Given the description of an element on the screen output the (x, y) to click on. 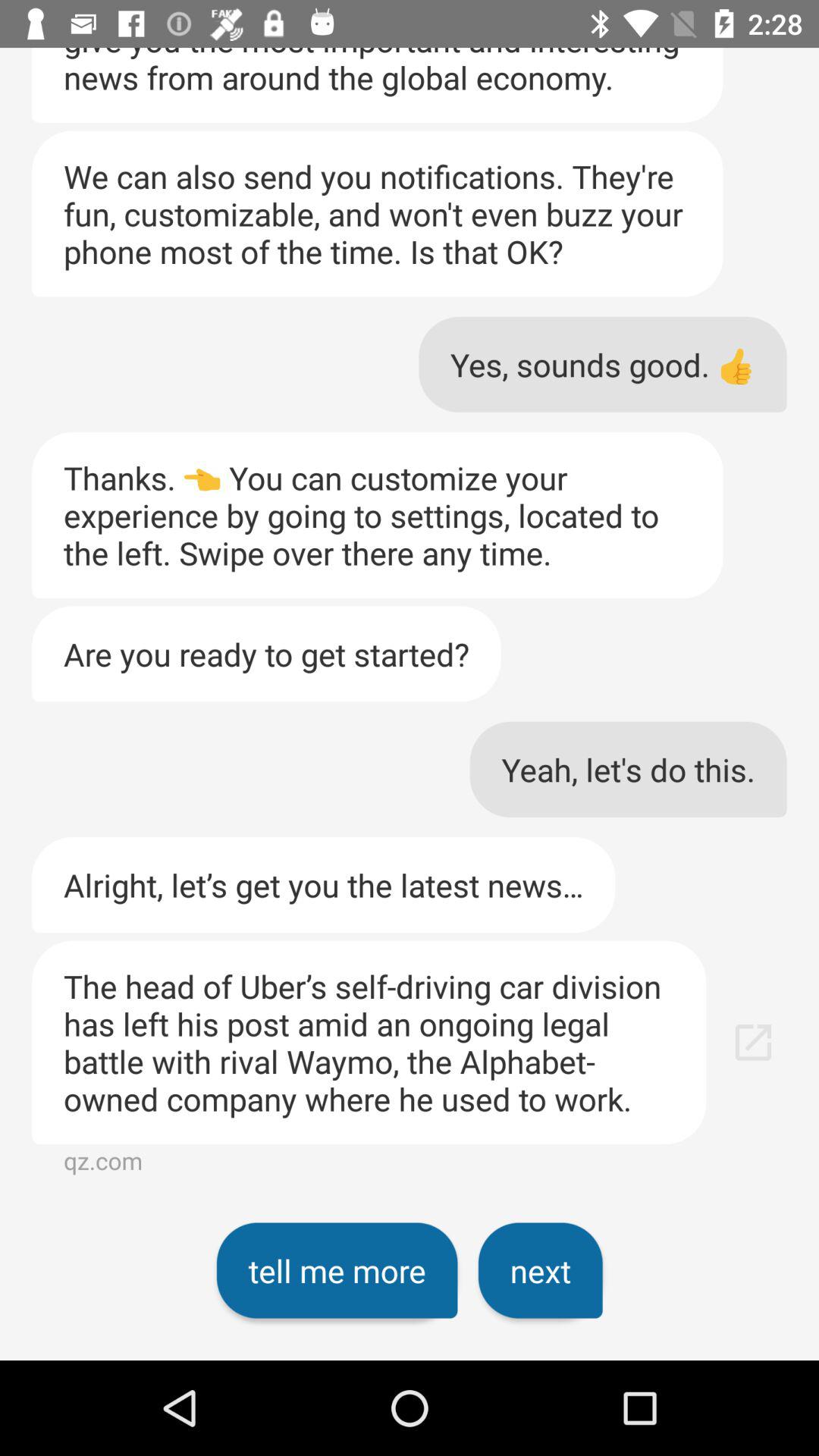
turn on item below the head of icon (336, 1270)
